Given the description of an element on the screen output the (x, y) to click on. 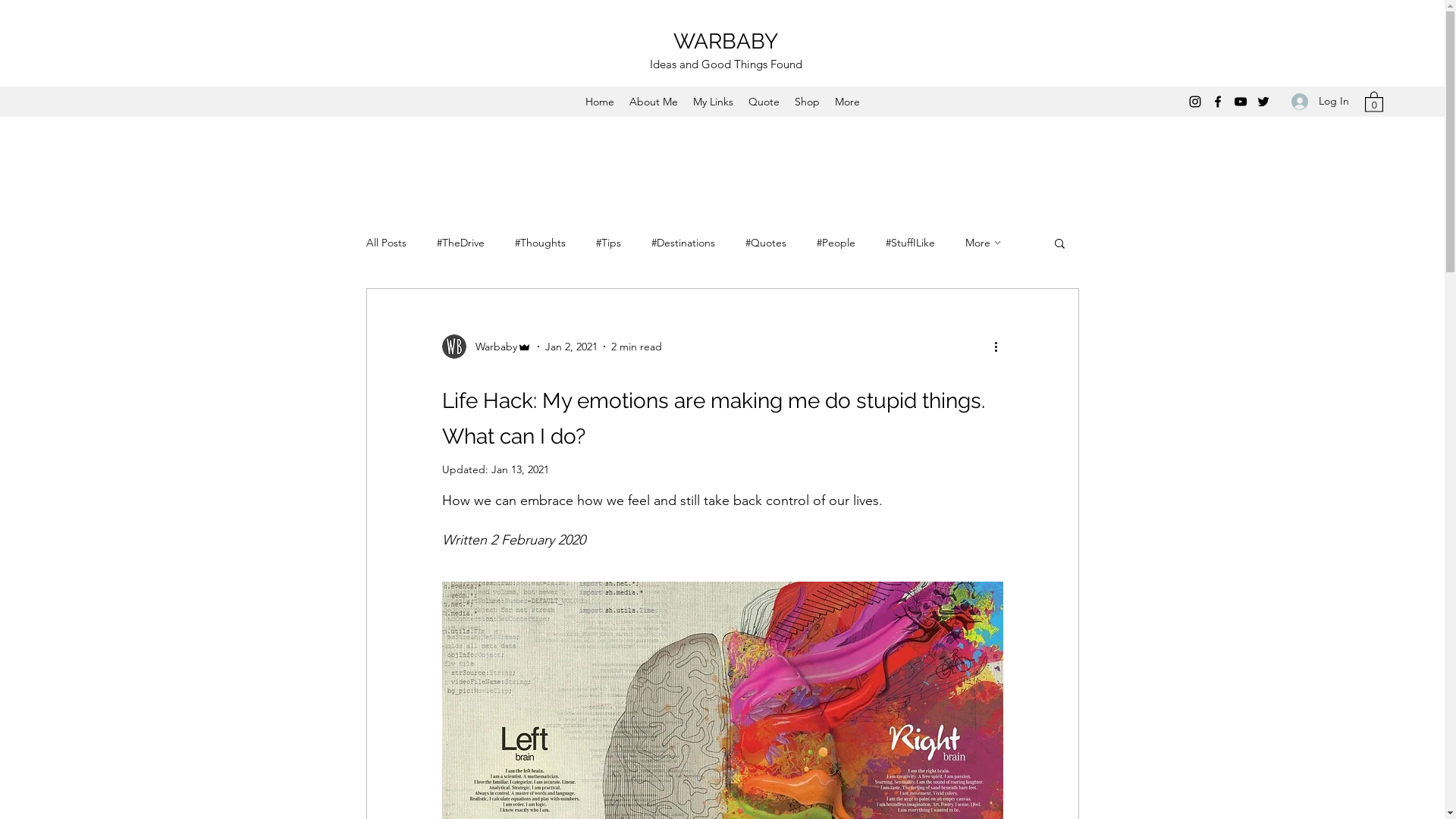
#Thoughts Element type: text (539, 242)
#Quotes Element type: text (764, 242)
#TheDrive Element type: text (460, 242)
Log In Element type: text (1319, 101)
All Posts Element type: text (385, 242)
0 Element type: text (1374, 101)
#Tips Element type: text (608, 242)
#Destinations Element type: text (682, 242)
Shop Element type: text (807, 101)
Home Element type: text (599, 101)
#StuffILike Element type: text (910, 242)
About Me Element type: text (653, 101)
WARBABY Element type: text (725, 40)
Quote Element type: text (763, 101)
My Links Element type: text (712, 101)
#People Element type: text (834, 242)
Warbaby Element type: text (485, 346)
